Given the description of an element on the screen output the (x, y) to click on. 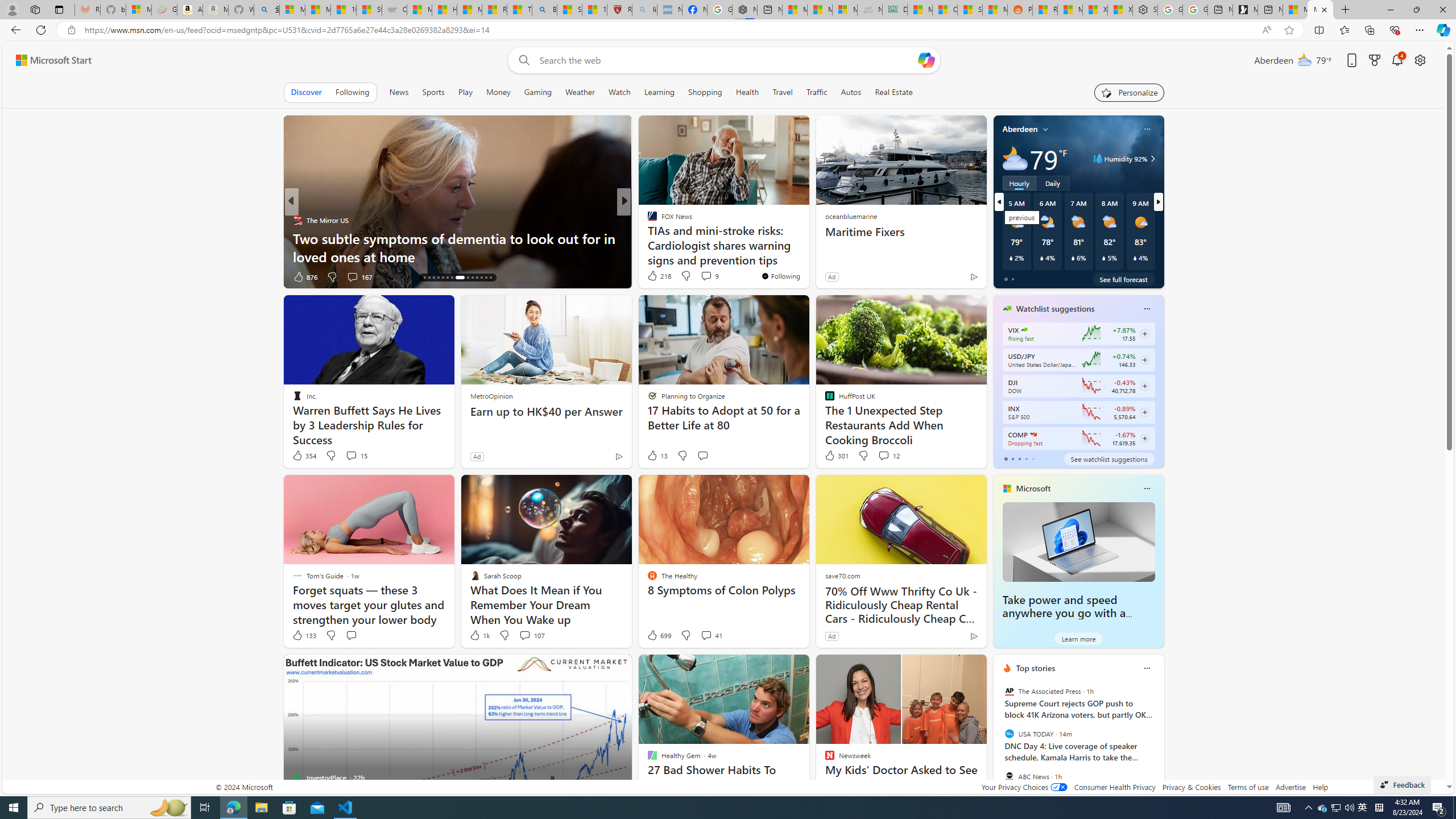
Mostly cloudy (1014, 158)
13 Like (657, 455)
Earn up to HK$40 per Answer (546, 411)
AutomationID: tab-23 (467, 277)
218 Like (658, 275)
354 Like (303, 455)
